Given the description of an element on the screen output the (x, y) to click on. 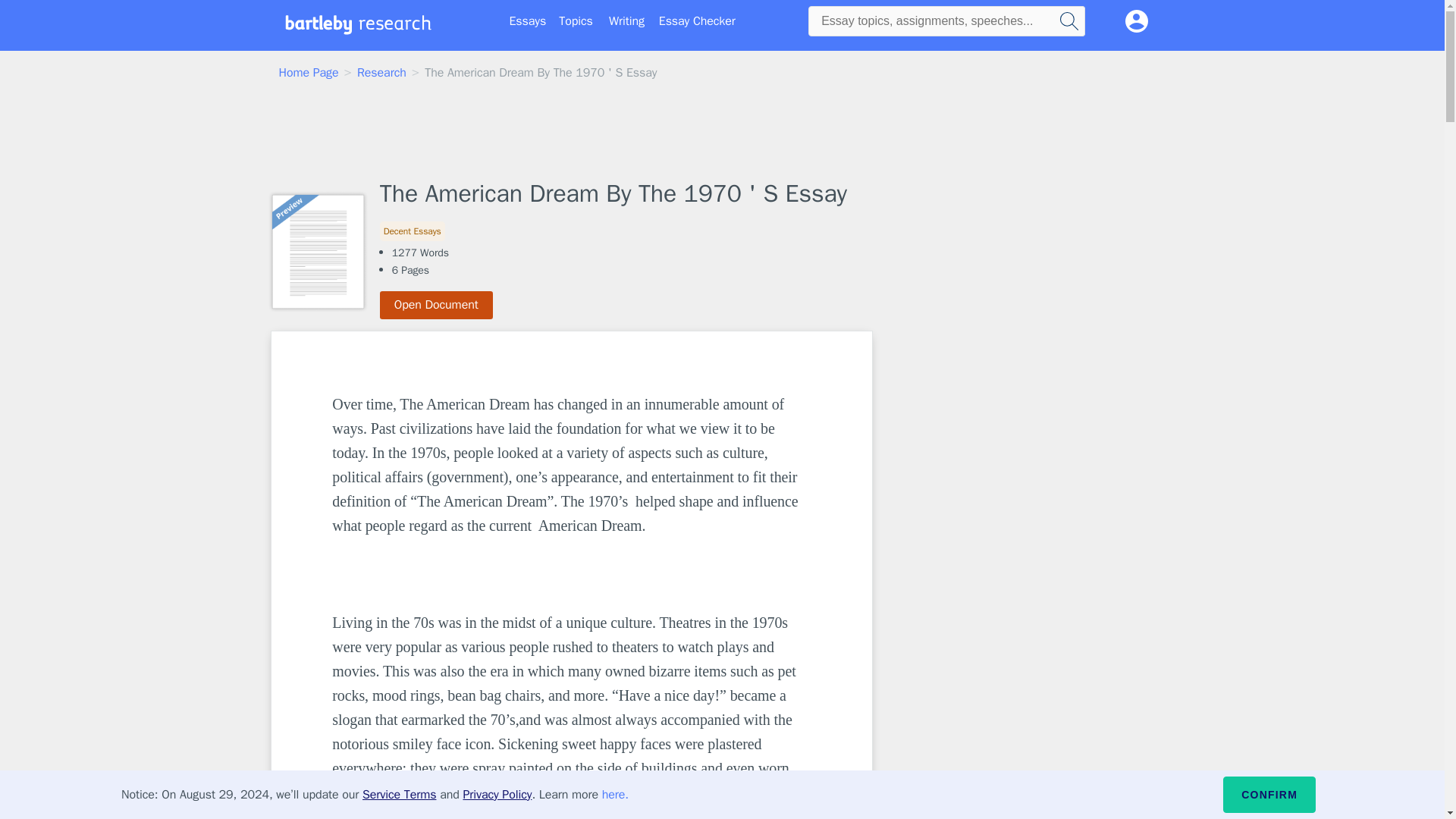
Research (381, 72)
Home Page (309, 72)
Open Document (436, 305)
Writing (626, 20)
Essay Checker (697, 20)
Topics (575, 20)
Essays (528, 20)
